Given the description of an element on the screen output the (x, y) to click on. 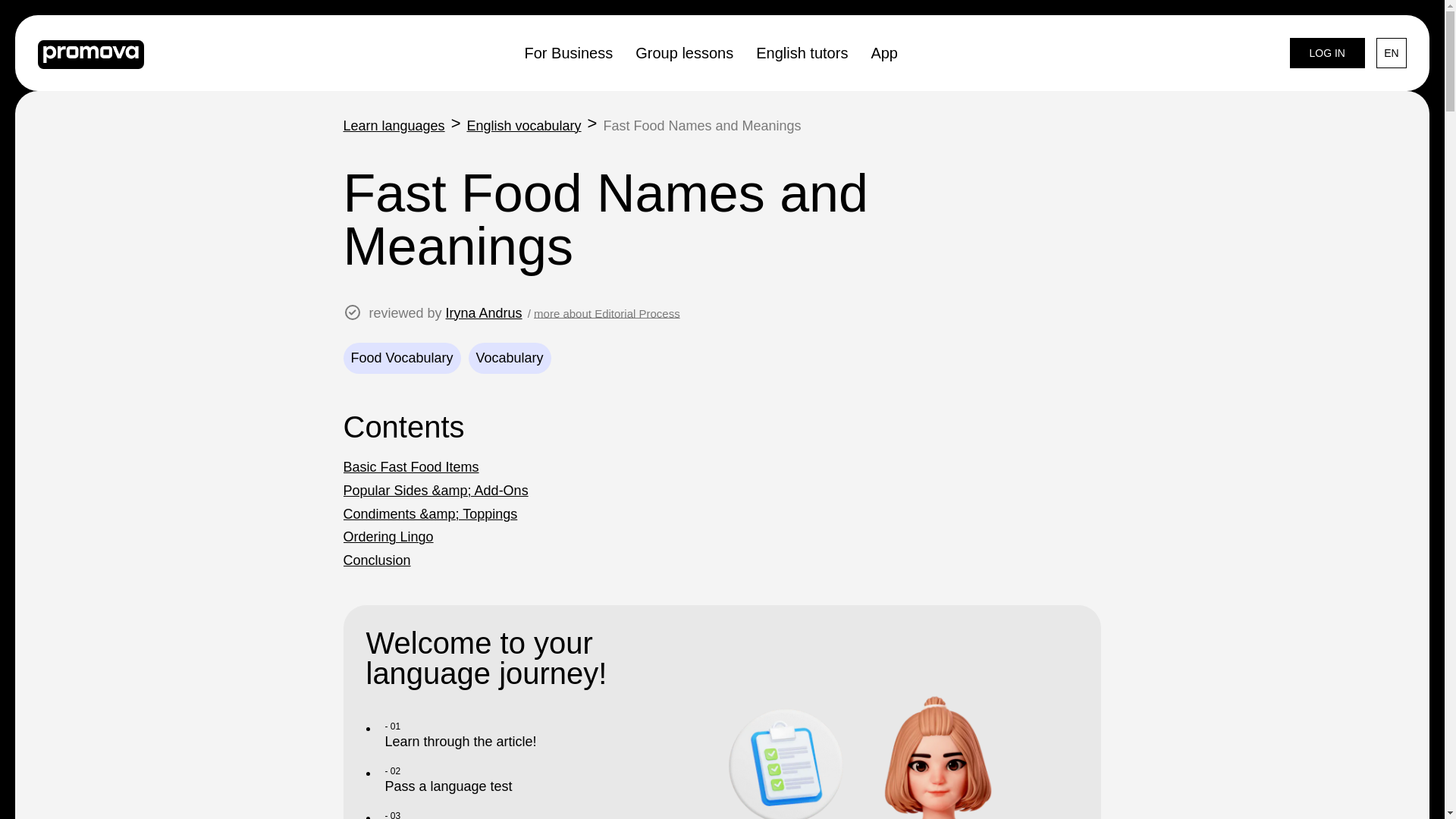
Group lessons (683, 52)
App (884, 52)
EN (1390, 52)
For Business (568, 52)
more about Editorial Process (606, 313)
Vocabulary (509, 358)
Fast Food Names and Meanings (701, 126)
English tutors (801, 52)
Food Vocabulary (401, 358)
LOG IN (1327, 52)
